Given the description of an element on the screen output the (x, y) to click on. 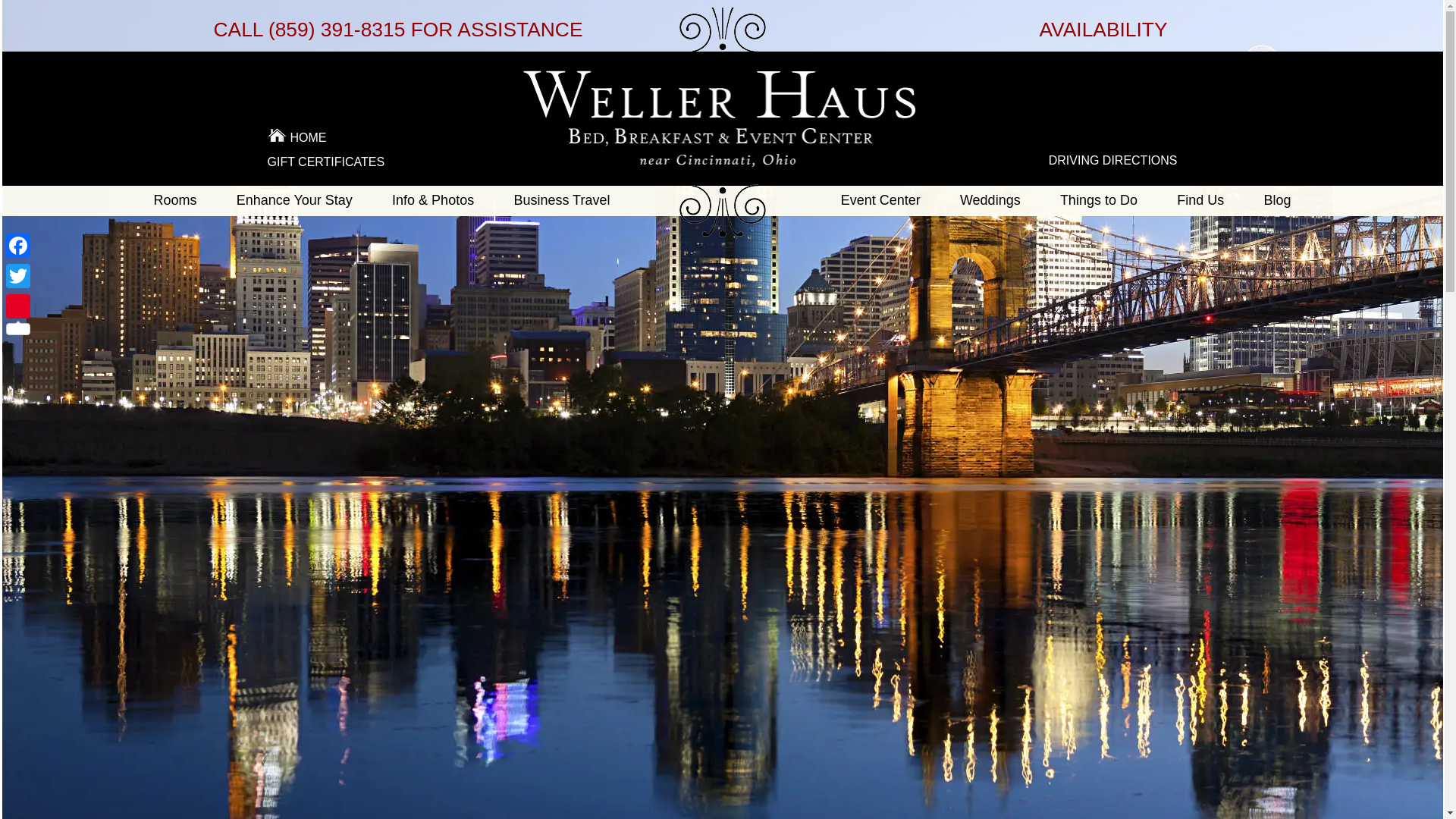
HOME (397, 137)
DRIVING DIRECTIONS (1112, 160)
Enhance Your Stay (293, 199)
Skip to secondary content (228, 224)
Twitter (17, 276)
Facebook (17, 245)
AVAILABILITY (1103, 29)
GIFT CERTIFICATES (325, 161)
Skip to secondary content (228, 224)
Skip to primary content (220, 201)
Skip to primary content (220, 201)
Rooms (174, 199)
